Given the description of an element on the screen output the (x, y) to click on. 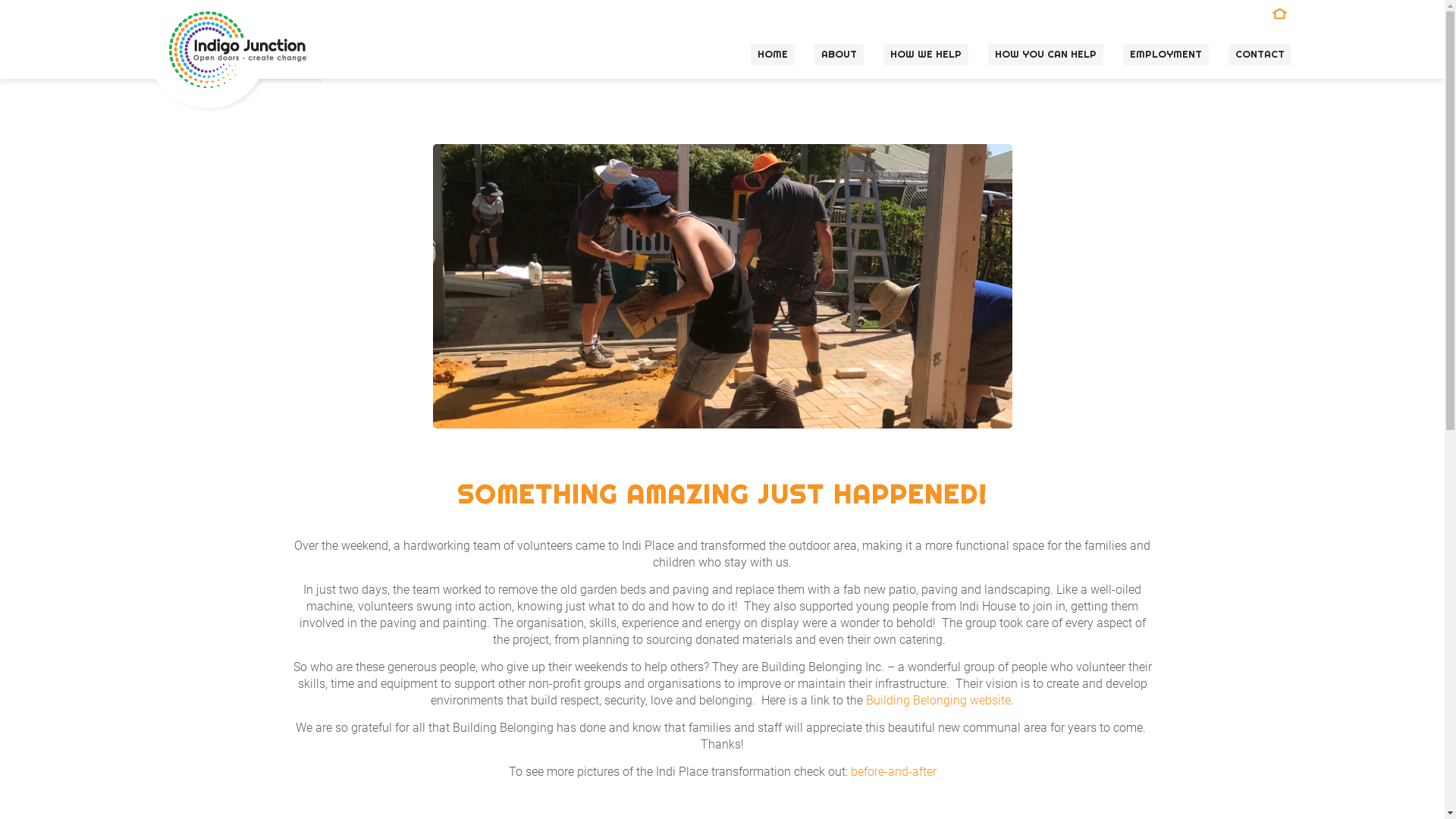
POLICIES Element type: text (1278, 13)
HOW WE HELP Element type: text (924, 54)
ABOUT Element type: text (838, 54)
before-and-after Element type: text (893, 771)
HOW YOU CAN HELP Element type: text (1044, 54)
CONTACT Element type: text (1259, 54)
EMPLOYMENT Element type: text (1165, 54)
Building Belonging website Element type: text (938, 700)
HOME Element type: text (772, 54)
